Given the description of an element on the screen output the (x, y) to click on. 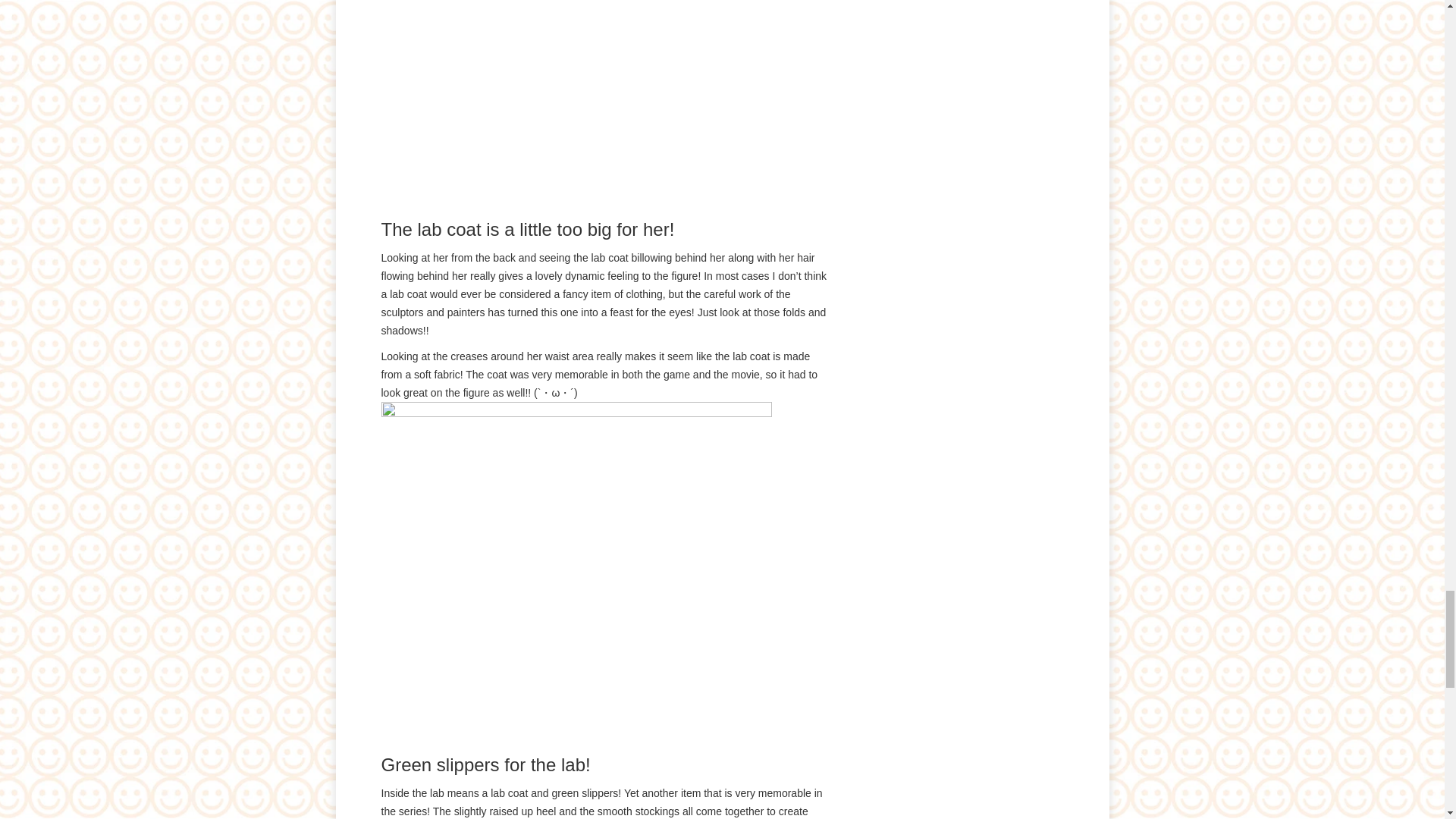
006 (575, 110)
